Given the description of an element on the screen output the (x, y) to click on. 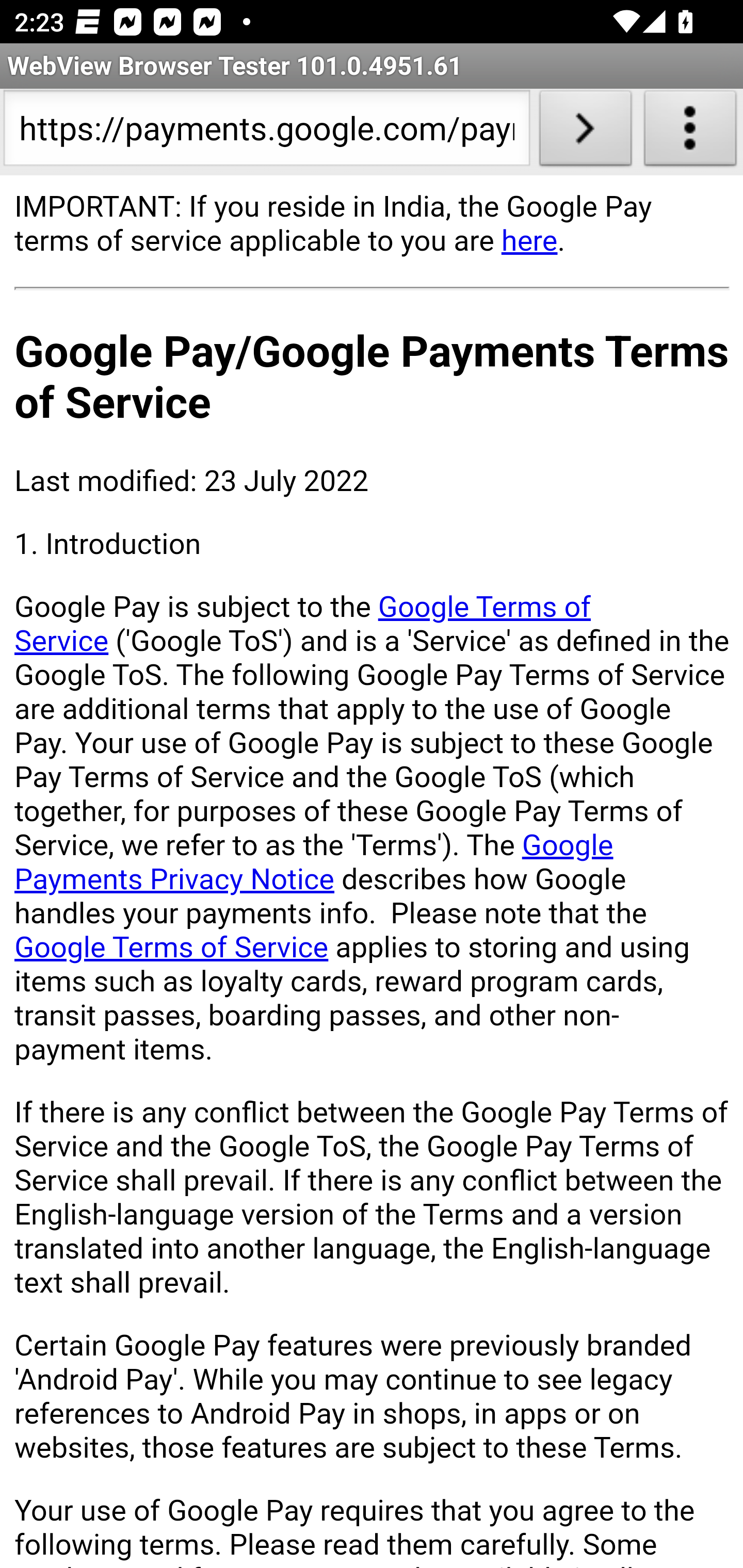
Load URL (585, 132)
About WebView (690, 132)
here (528, 240)
Google Terms of Service (303, 623)
Google Payments Privacy Notice (313, 861)
Google Terms of Service (171, 947)
